Given the description of an element on the screen output the (x, y) to click on. 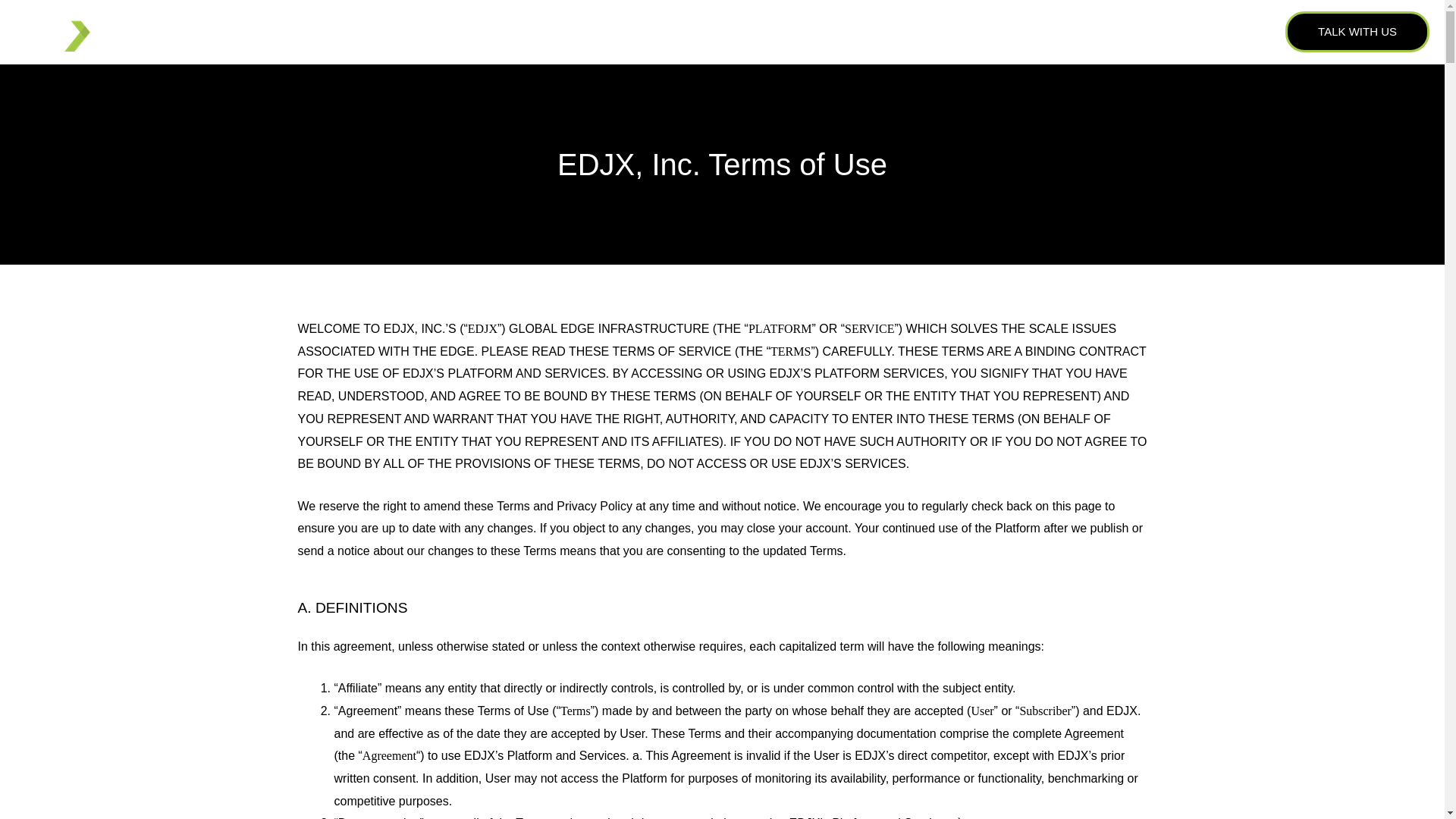
TALK WITH US (1357, 31)
EDJX IN THE PRESS (1088, 31)
INSIGHTS (1184, 31)
PRODUCTS (890, 31)
LOGIN (1243, 31)
ABOUT (809, 31)
SOLUTIONS (982, 31)
